Given the description of an element on the screen output the (x, y) to click on. 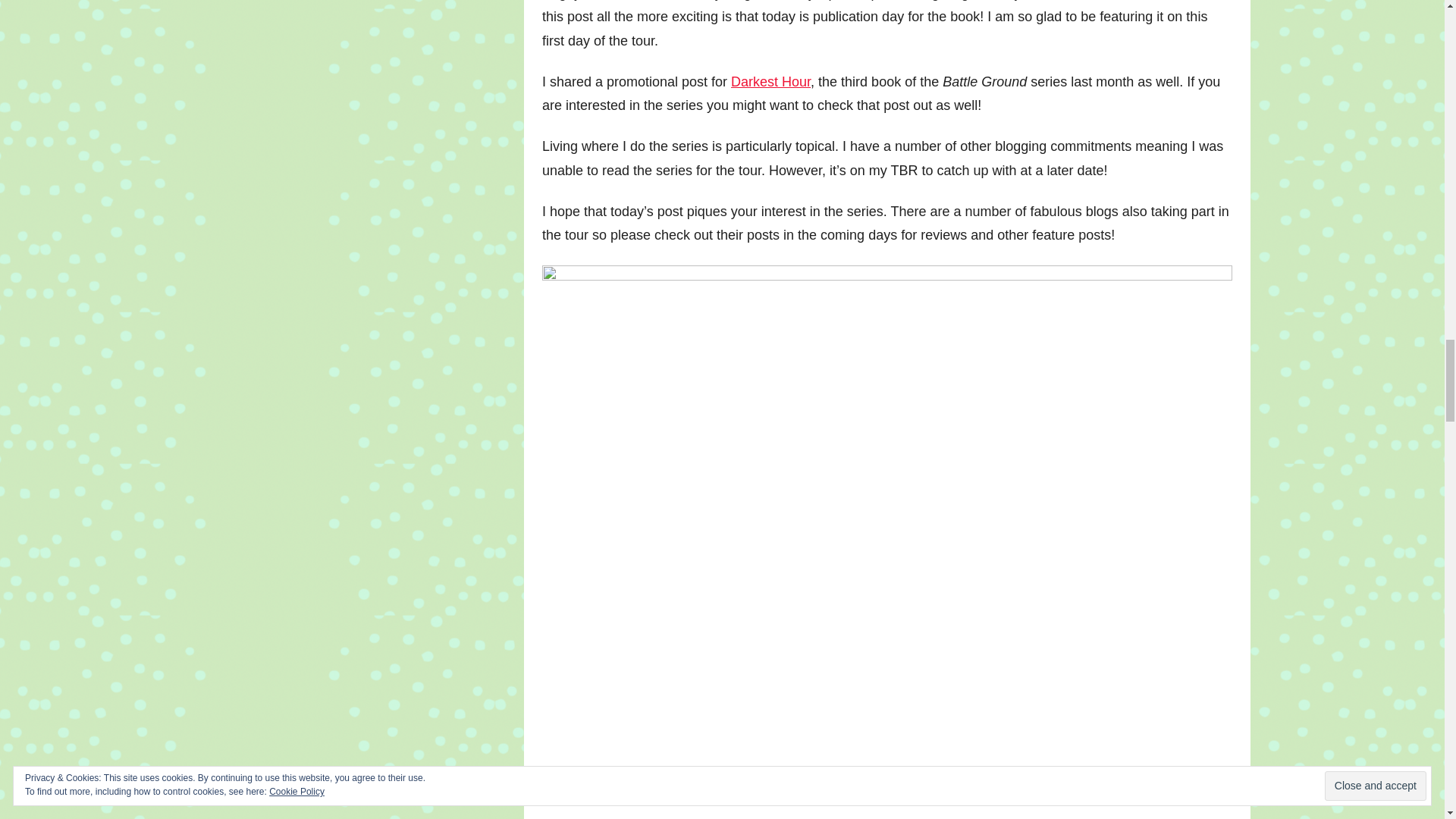
Darkest Hour (770, 81)
